Given the description of an element on the screen output the (x, y) to click on. 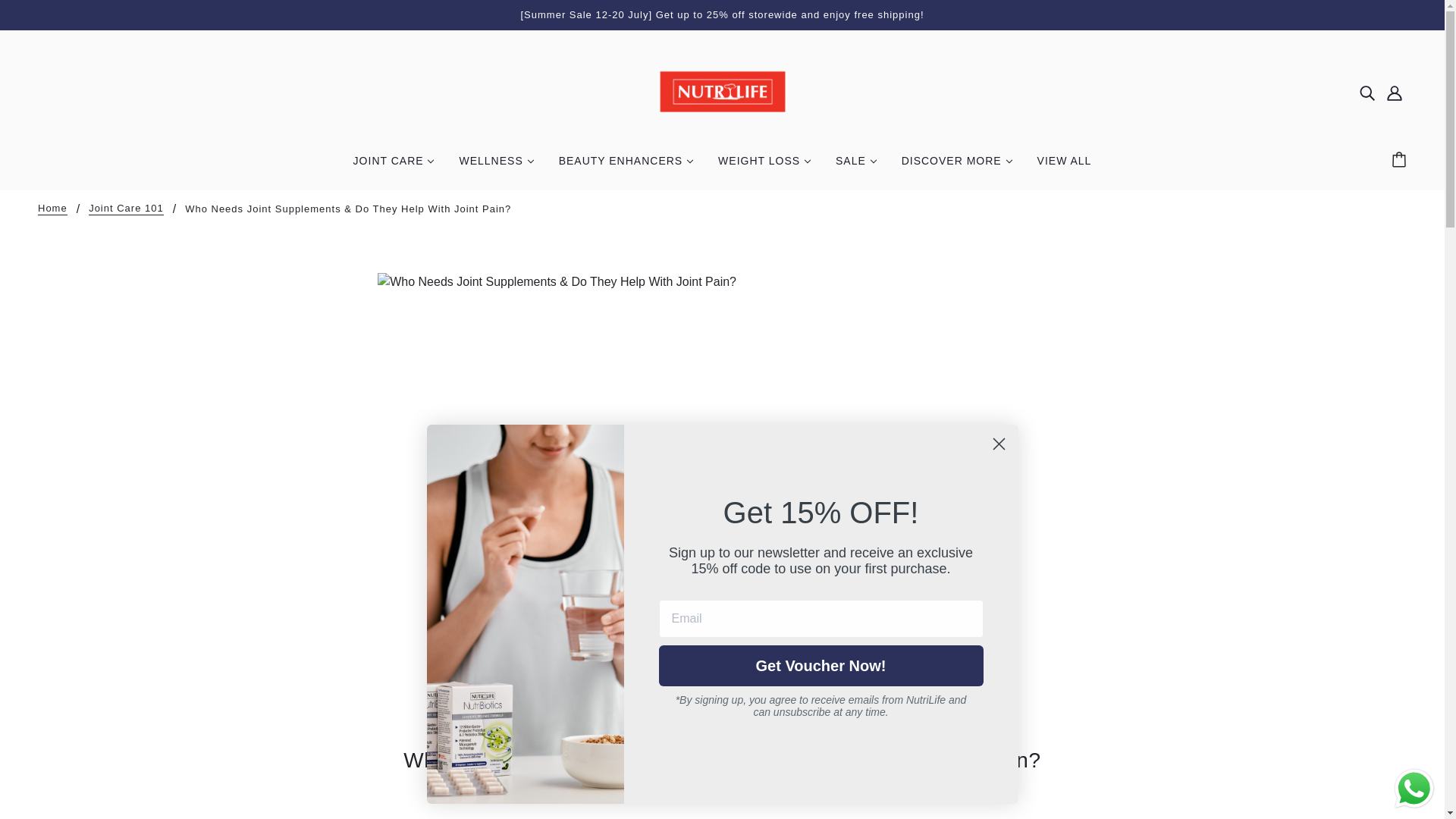
Joint Care 101 (125, 209)
WELLNESS (496, 166)
VIEW ALL (1064, 166)
WEIGHT LOSS (765, 166)
Home (51, 209)
DISCOVER MORE (957, 166)
JOINT CARE (393, 166)
SALE (856, 166)
NutriLife (722, 91)
BEAUTY ENHANCERS (626, 166)
